Given the description of an element on the screen output the (x, y) to click on. 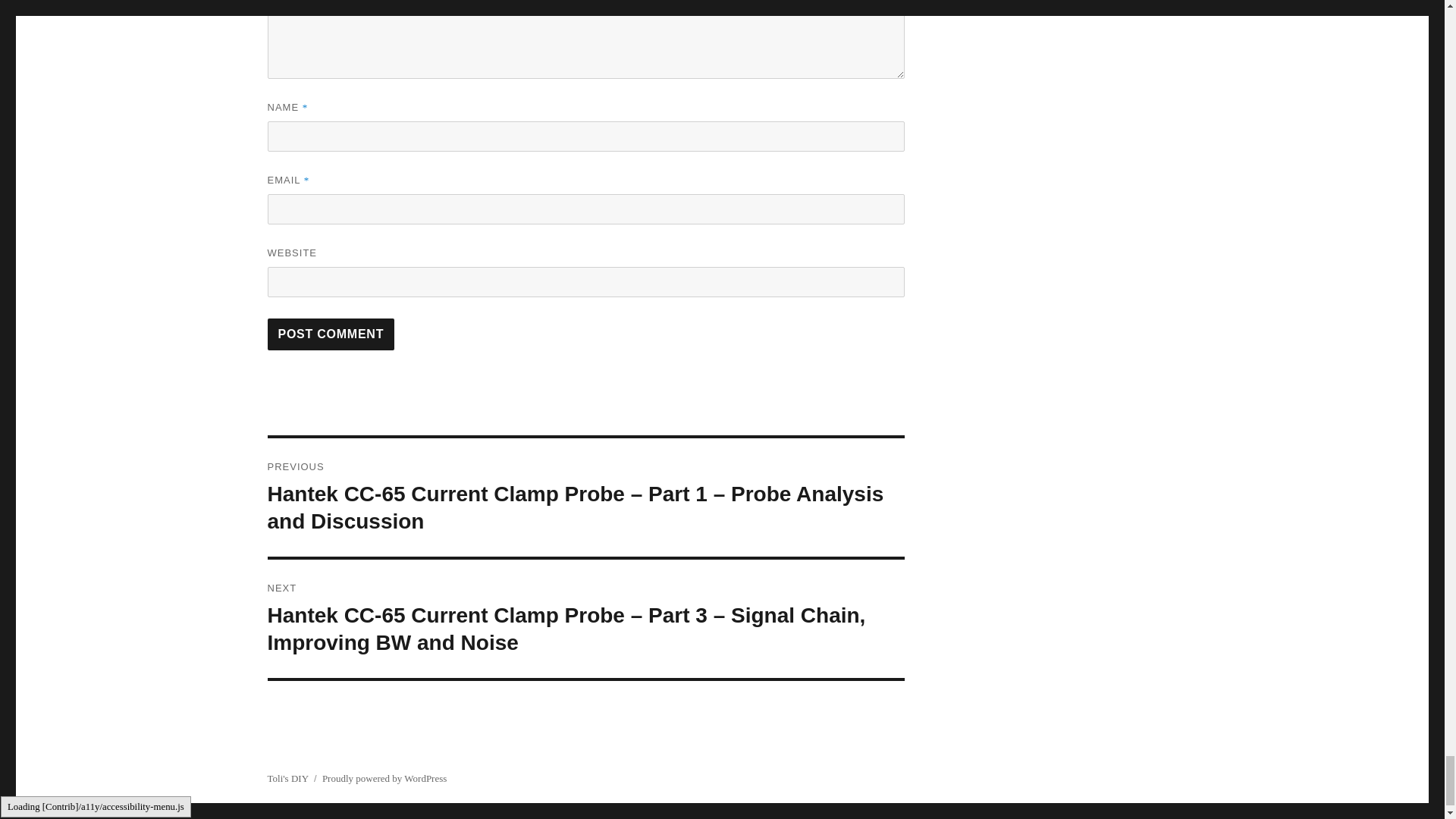
Post Comment (330, 334)
